Given the description of an element on the screen output the (x, y) to click on. 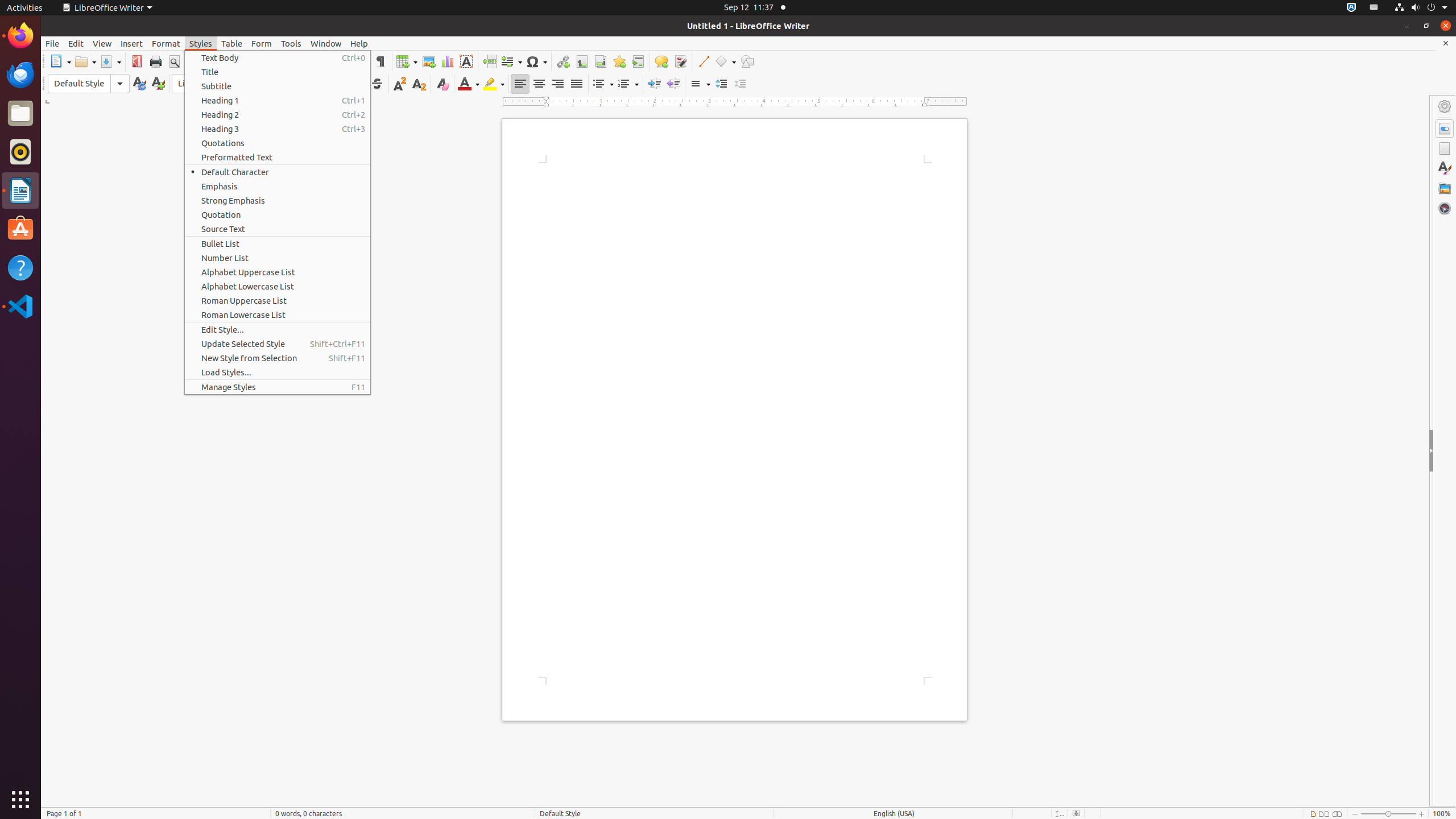
Heading 2 Element type: radio-menu-item (277, 114)
Subtitle Element type: radio-menu-item (277, 86)
Open Element type: push-button (84, 61)
Heading 1 Element type: radio-menu-item (277, 100)
Justified Element type: toggle-button (576, 83)
